Given the description of an element on the screen output the (x, y) to click on. 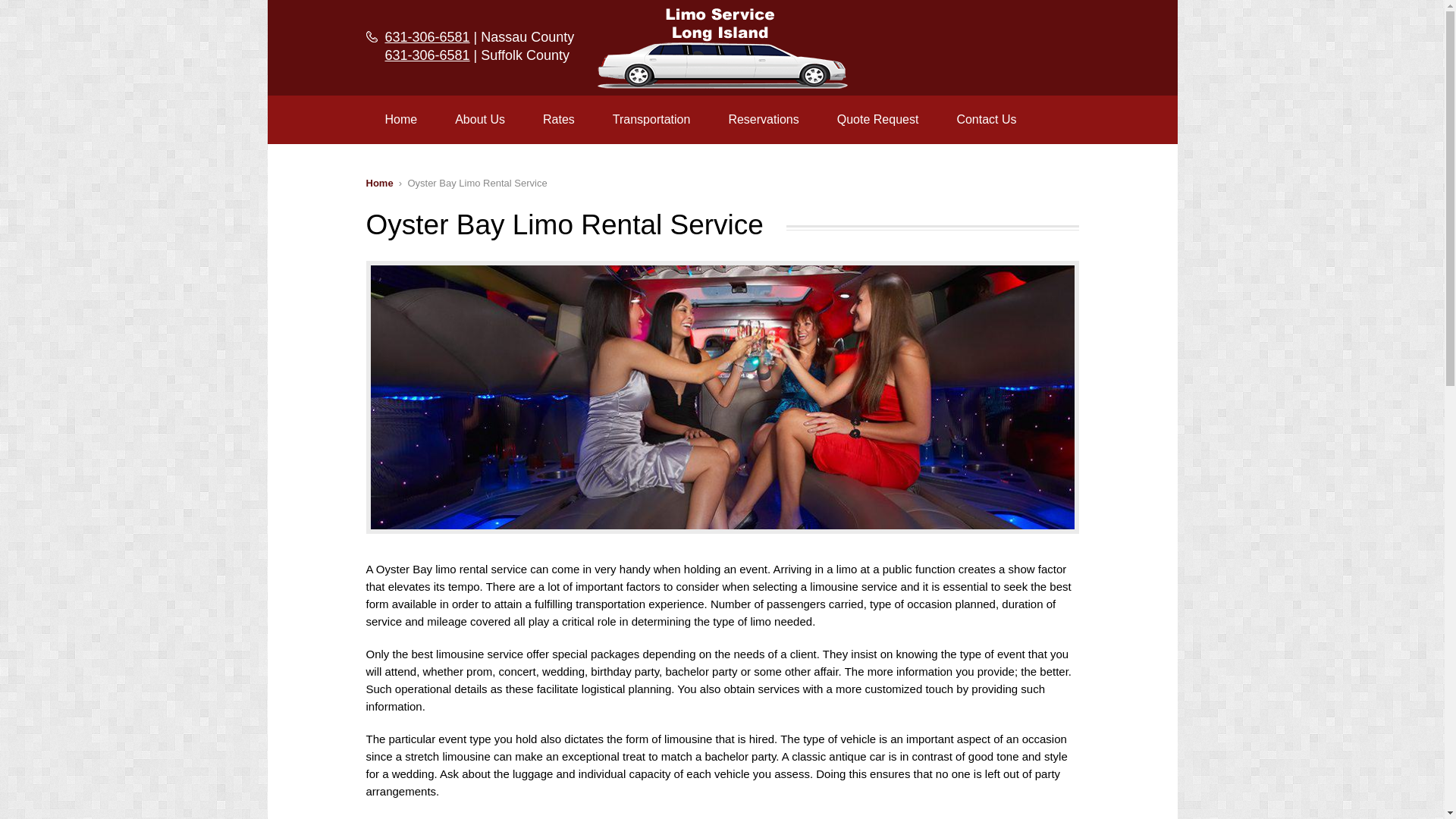
631-306-6581 (427, 37)
Home (400, 119)
Reservations (762, 119)
About Us (479, 119)
Contact Us (986, 119)
Quote Request (877, 119)
Rates (559, 119)
631-306-6581 (427, 55)
Transportation (652, 119)
Home (379, 183)
